Given the description of an element on the screen output the (x, y) to click on. 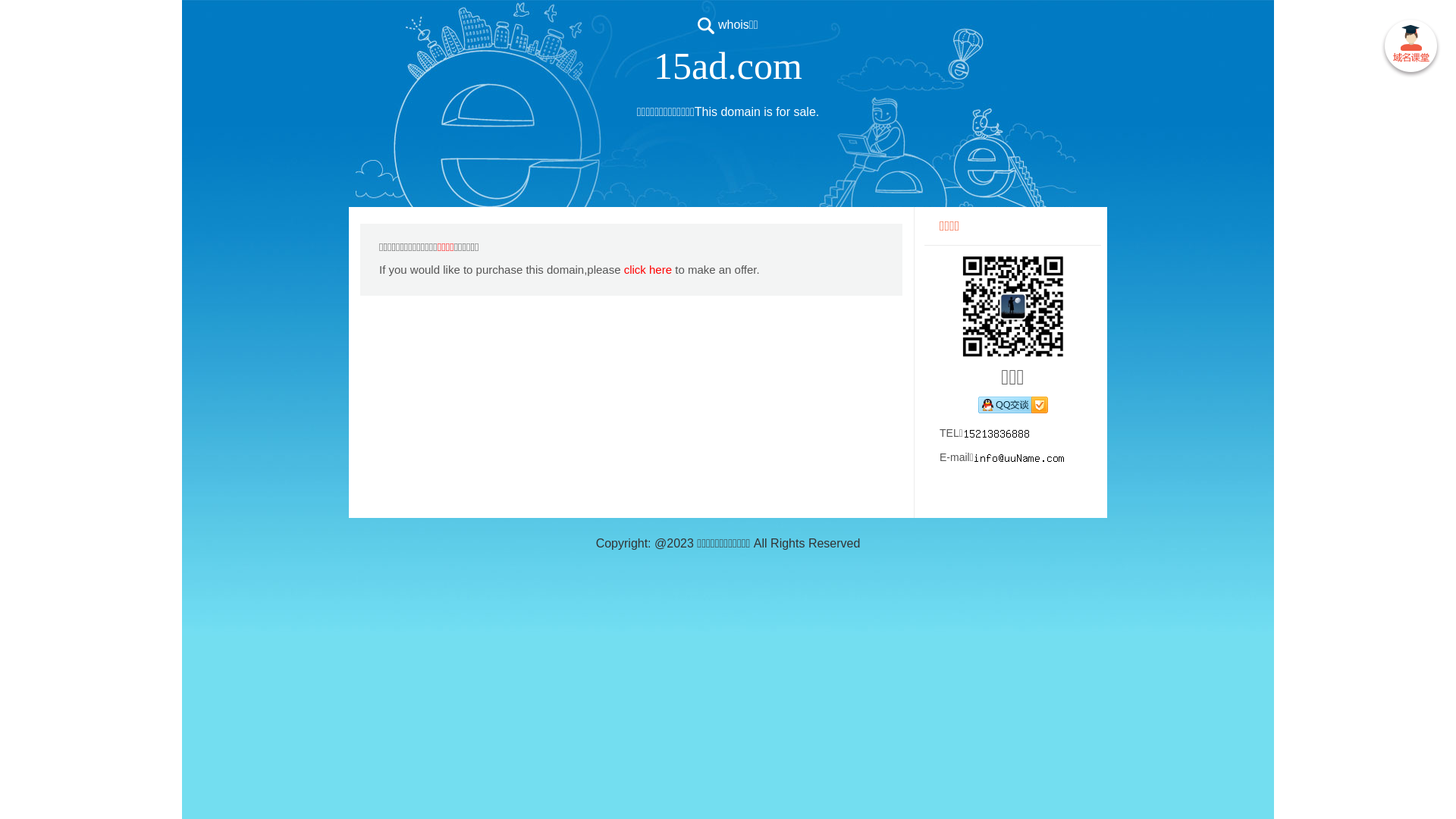
click here Element type: text (647, 269)
  Element type: text (1410, 48)
